Given the description of an element on the screen output the (x, y) to click on. 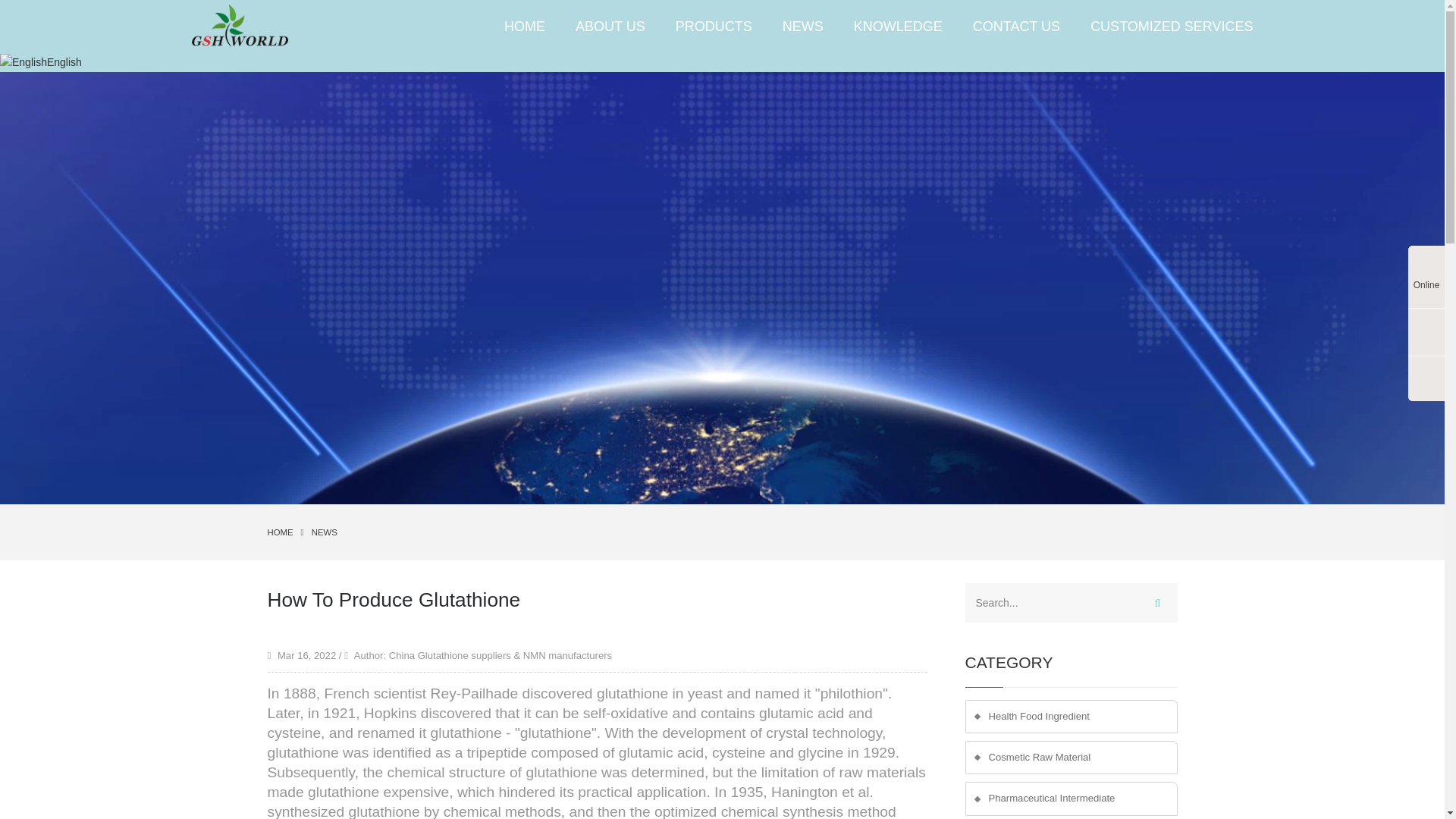
HOME (524, 26)
NEWS (324, 532)
CUSTOMIZED SERVICES (1163, 26)
CONTACT US (1016, 26)
KNOWLEDGE (898, 26)
English (40, 61)
HOME (282, 532)
ABOUT US (610, 26)
PRODUCTS (714, 26)
NEWS (802, 26)
